Given the description of an element on the screen output the (x, y) to click on. 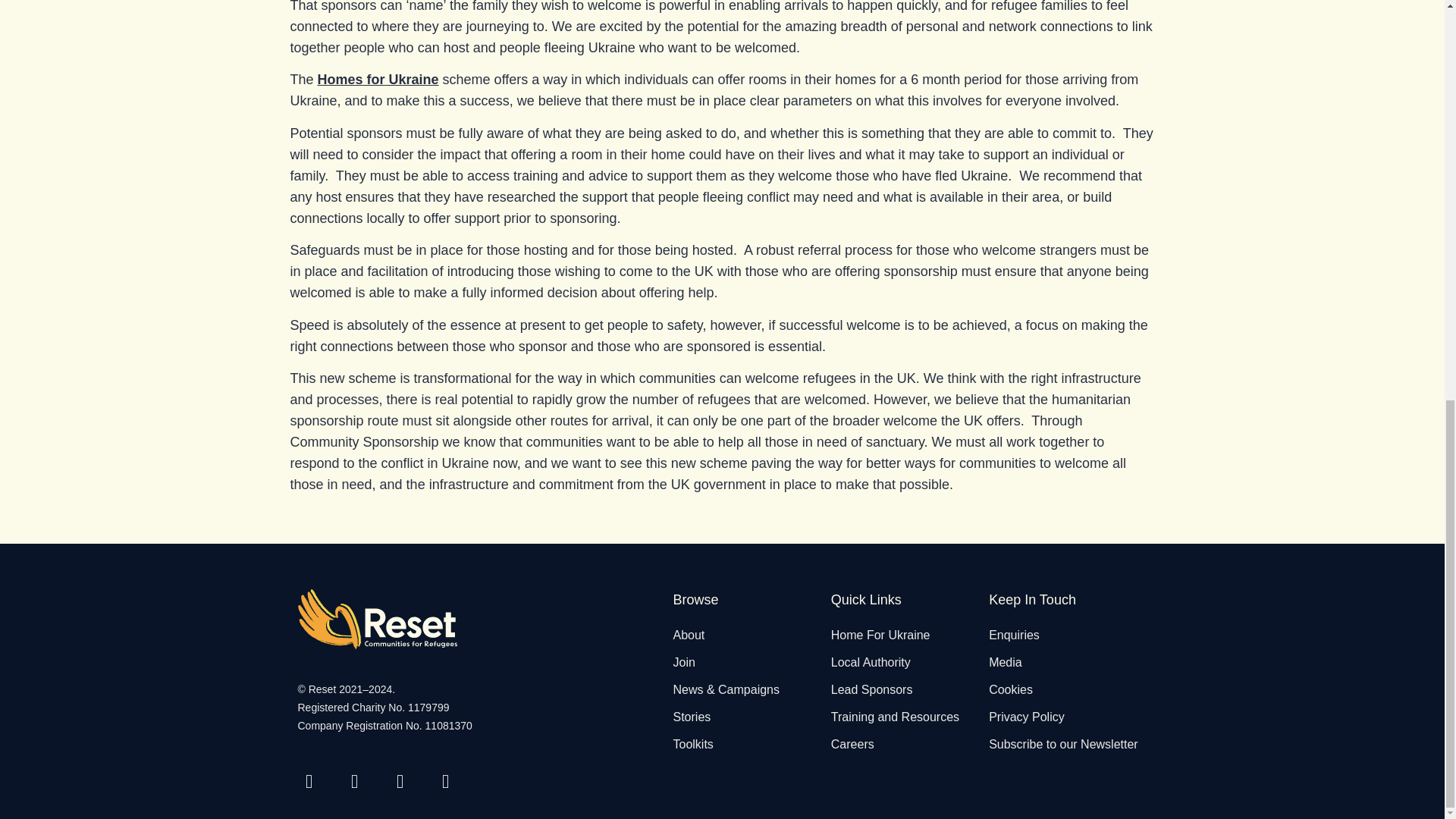
Homes for Ukraine (378, 79)
About (750, 635)
Home For Ukraine (909, 635)
Enquiries (1067, 635)
Join (750, 662)
Careers (909, 744)
Training and Resources (909, 717)
Privacy Policy (1067, 717)
Lead Sponsors (909, 690)
Cookies (1067, 690)
Media (1067, 662)
Stories (750, 717)
Local Authority (909, 662)
Toolkits (750, 744)
